Given the description of an element on the screen output the (x, y) to click on. 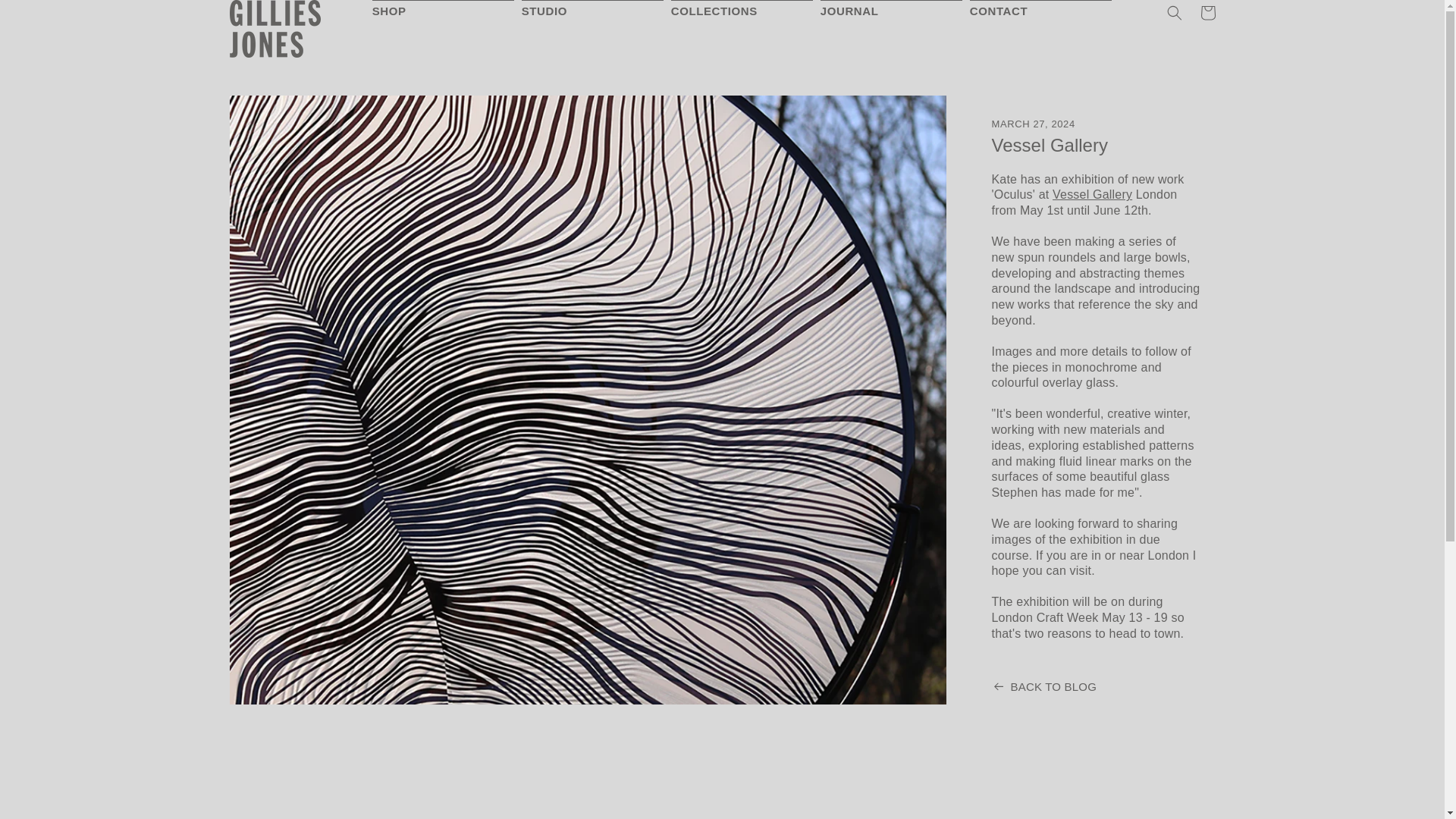
Cart (1207, 14)
CONTACT (1002, 13)
BACK TO BLOG (1095, 686)
Vessel Gallery (1092, 194)
STUDIO (548, 13)
JOURNAL (854, 13)
SKIP TO CONTENT (45, 17)
SHOP (393, 13)
COLLECTIONS (719, 13)
